Given the description of an element on the screen output the (x, y) to click on. 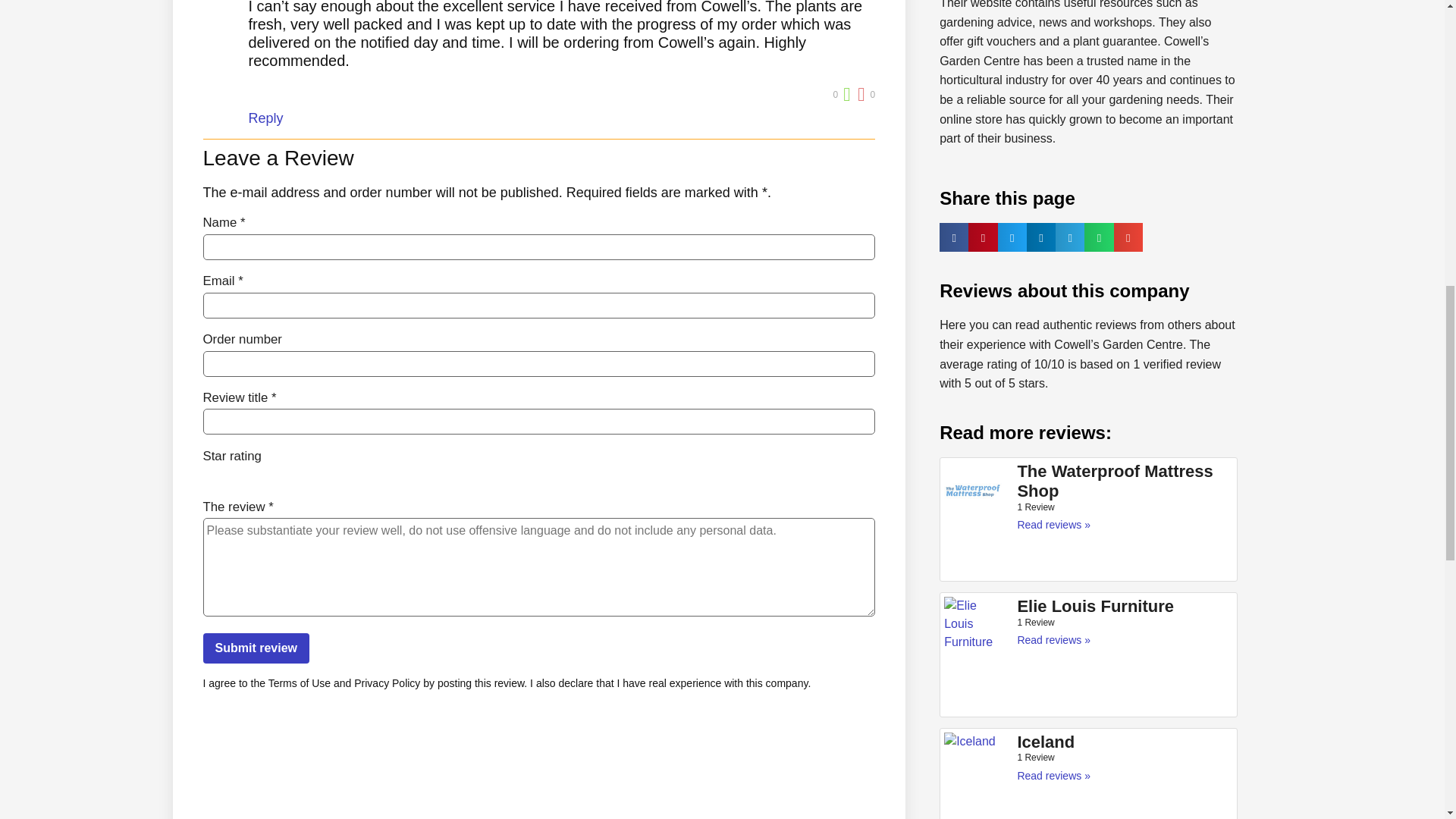
Submit review (255, 648)
Bestelnummer (539, 362)
